Given the description of an element on the screen output the (x, y) to click on. 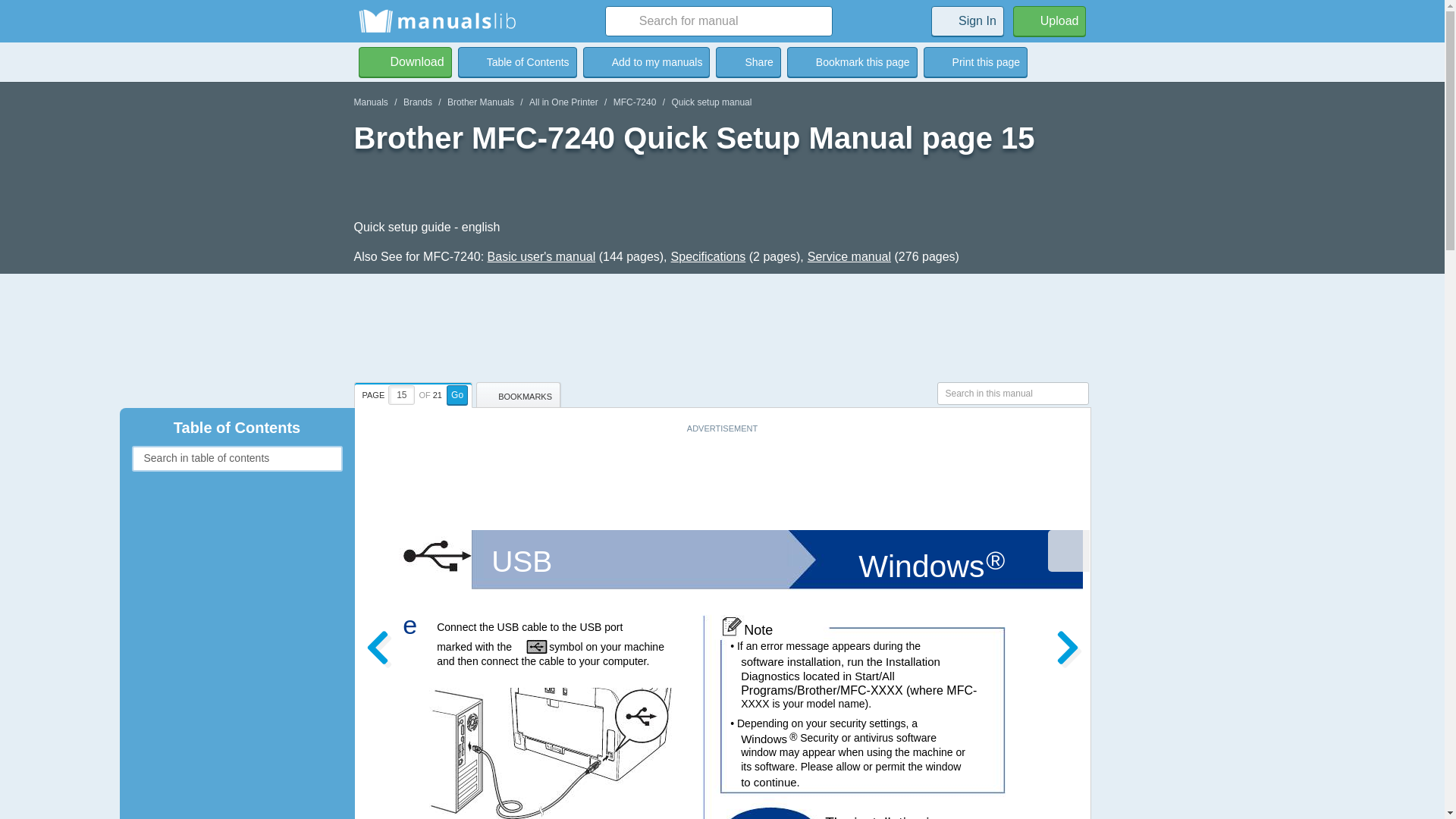
Print this page (975, 61)
Manuals Library (436, 21)
Bookmark this page (852, 61)
Download this manual (404, 61)
Share (748, 61)
Brother Manuals (479, 102)
MFC-7240 (634, 102)
Quick setup manual (711, 102)
Service manual (849, 256)
Brands (417, 102)
